Given the description of an element on the screen output the (x, y) to click on. 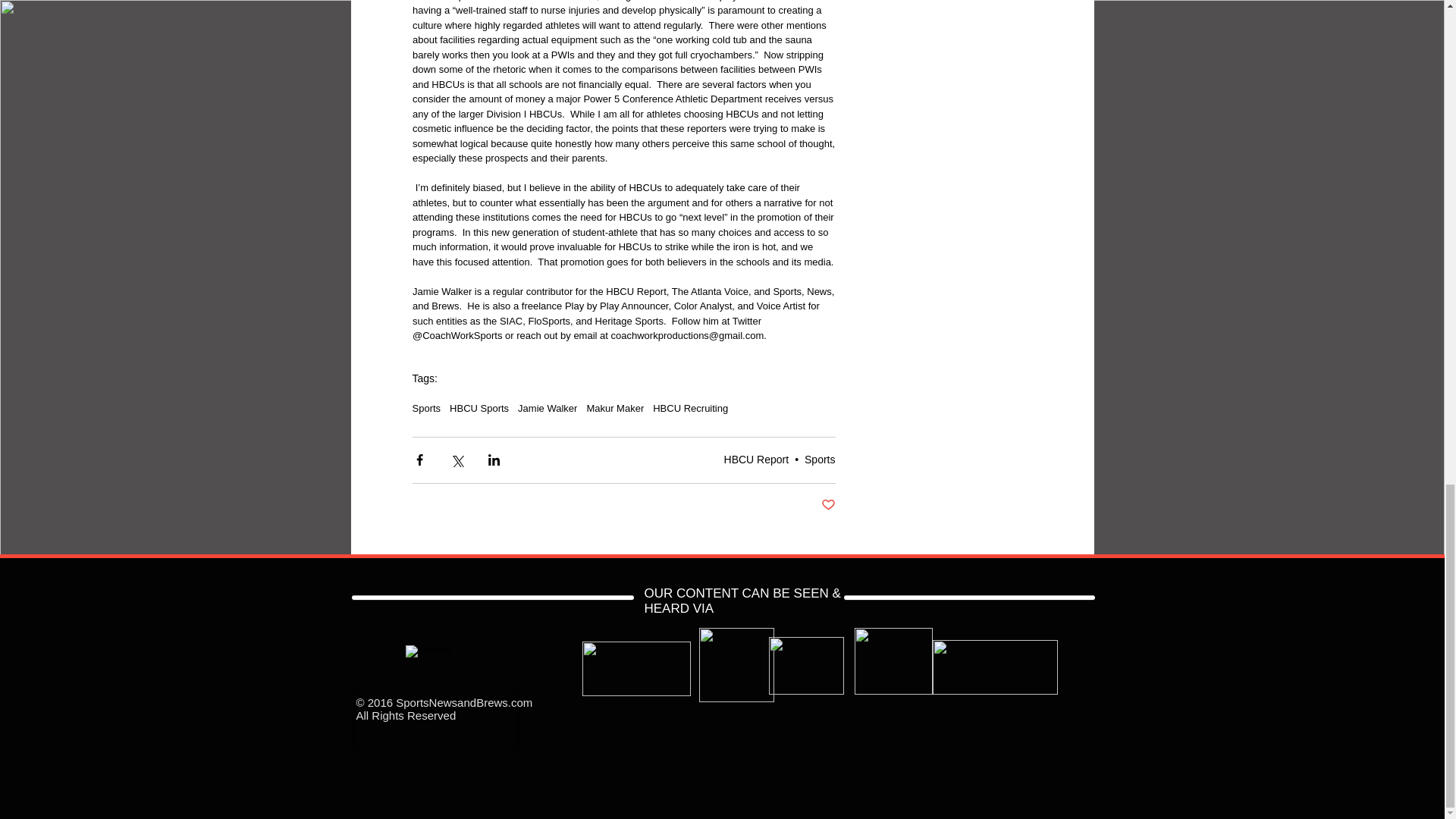
HBCU Recruiting (690, 408)
HBCU Sports (478, 408)
Post not marked as liked (827, 505)
Sports (819, 459)
Jamie Walker (547, 408)
Sports (426, 408)
Makur Maker (614, 408)
HBCU Report (756, 459)
